Given the description of an element on the screen output the (x, y) to click on. 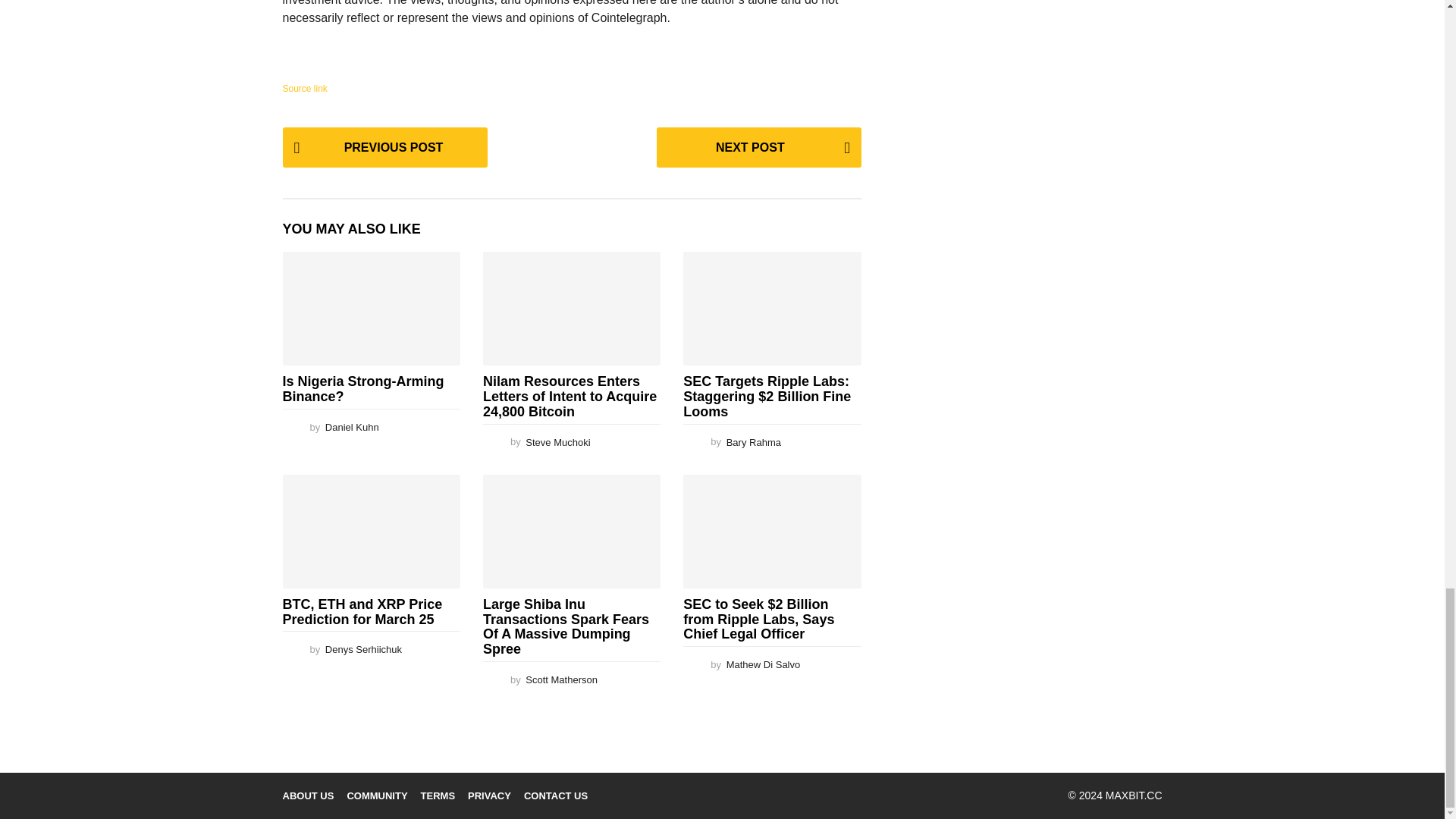
Steve Muchoki (557, 441)
Source link (304, 88)
Daniel Kuhn (351, 427)
Is Nigeria Strong-Arming Binance? (363, 388)
NEXT POST (758, 147)
Bary Rahma (753, 441)
BTC, ETH and XRP Price Prediction for March 25 (371, 531)
PREVIOUS POST (384, 147)
Is Nigeria Strong-Arming Binance? (371, 308)
